Given the description of an element on the screen output the (x, y) to click on. 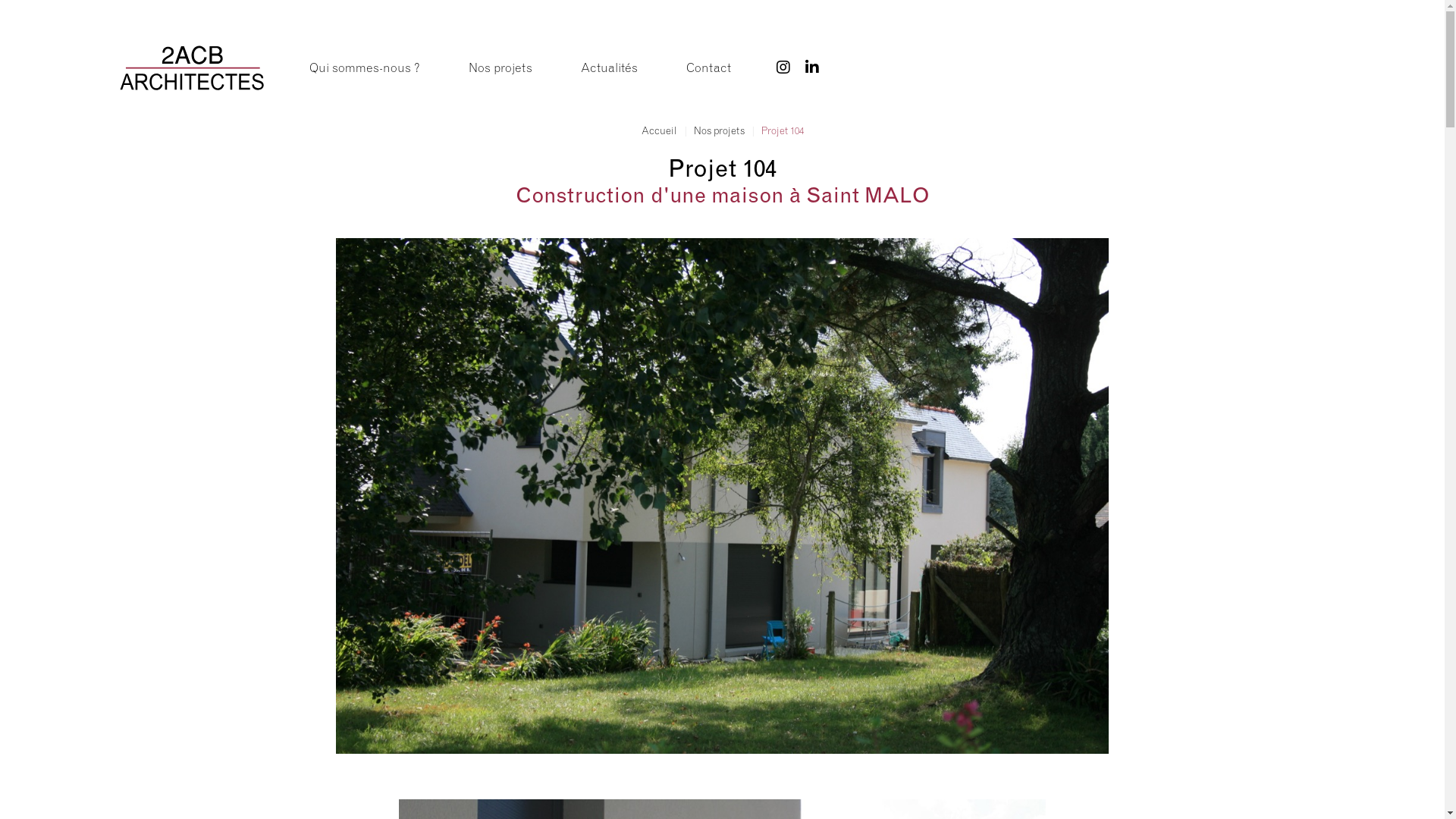
Linkedin Element type: hover (812, 66)
construction maison saint malo Element type: hover (721, 495)
Projet 104 Element type: text (782, 130)
Qui sommes-nous ? Element type: text (364, 67)
Nos projets Element type: text (718, 130)
Accueil Element type: text (659, 130)
Nos projets Element type: text (500, 67)
Contact Element type: text (707, 67)
Twitter Element type: hover (783, 66)
2ACB Architectes Element type: hover (191, 65)
